Given the description of an element on the screen output the (x, y) to click on. 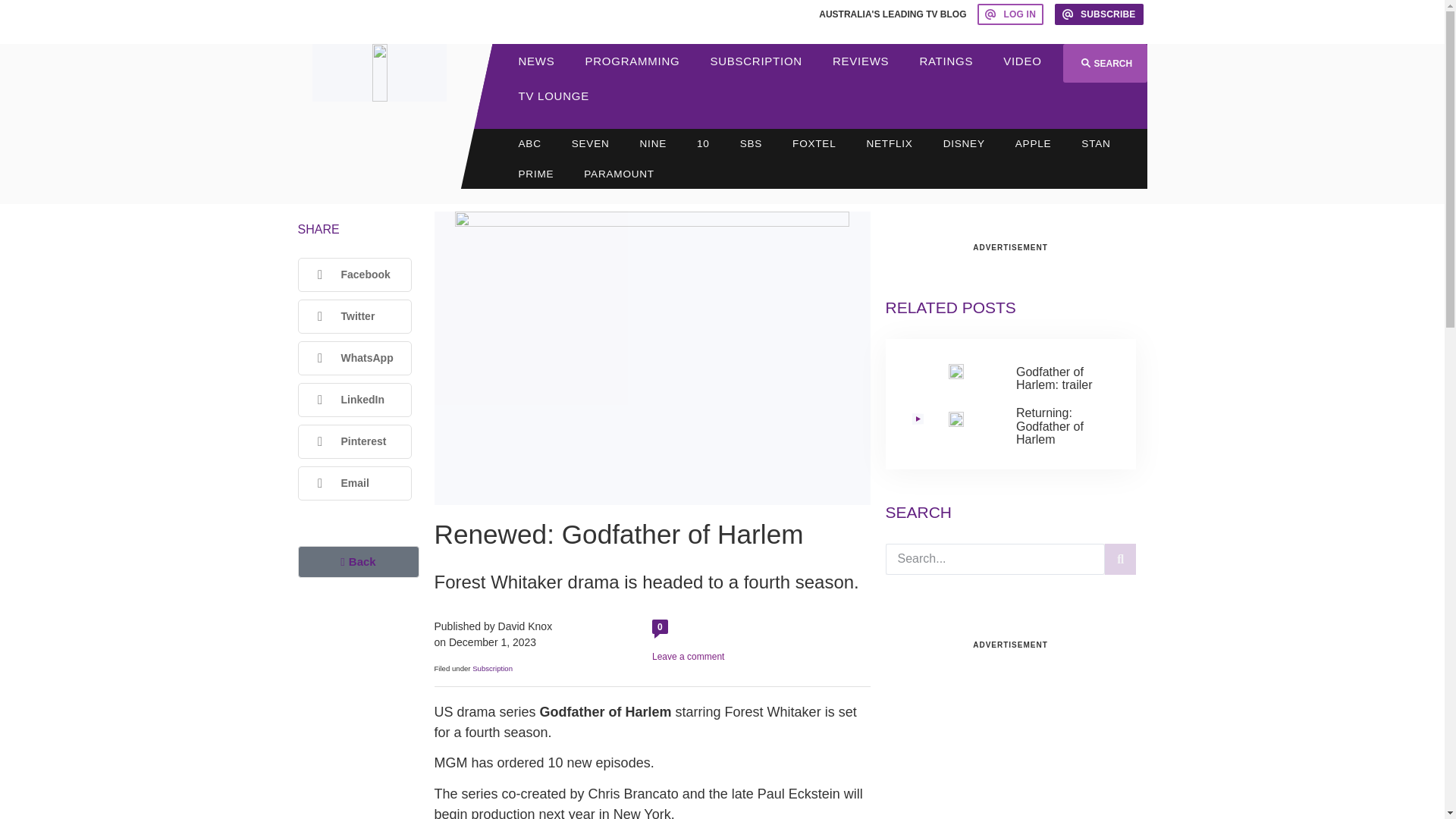
LOG IN (1010, 14)
SUBSCRIPTION (755, 61)
PROGRAMMING (632, 61)
ABC (529, 143)
NEWS (536, 61)
VIDEO (1022, 61)
TV LOUNGE (553, 95)
REVIEWS (860, 61)
SEARCH (1104, 63)
RATINGS (946, 61)
